Given the description of an element on the screen output the (x, y) to click on. 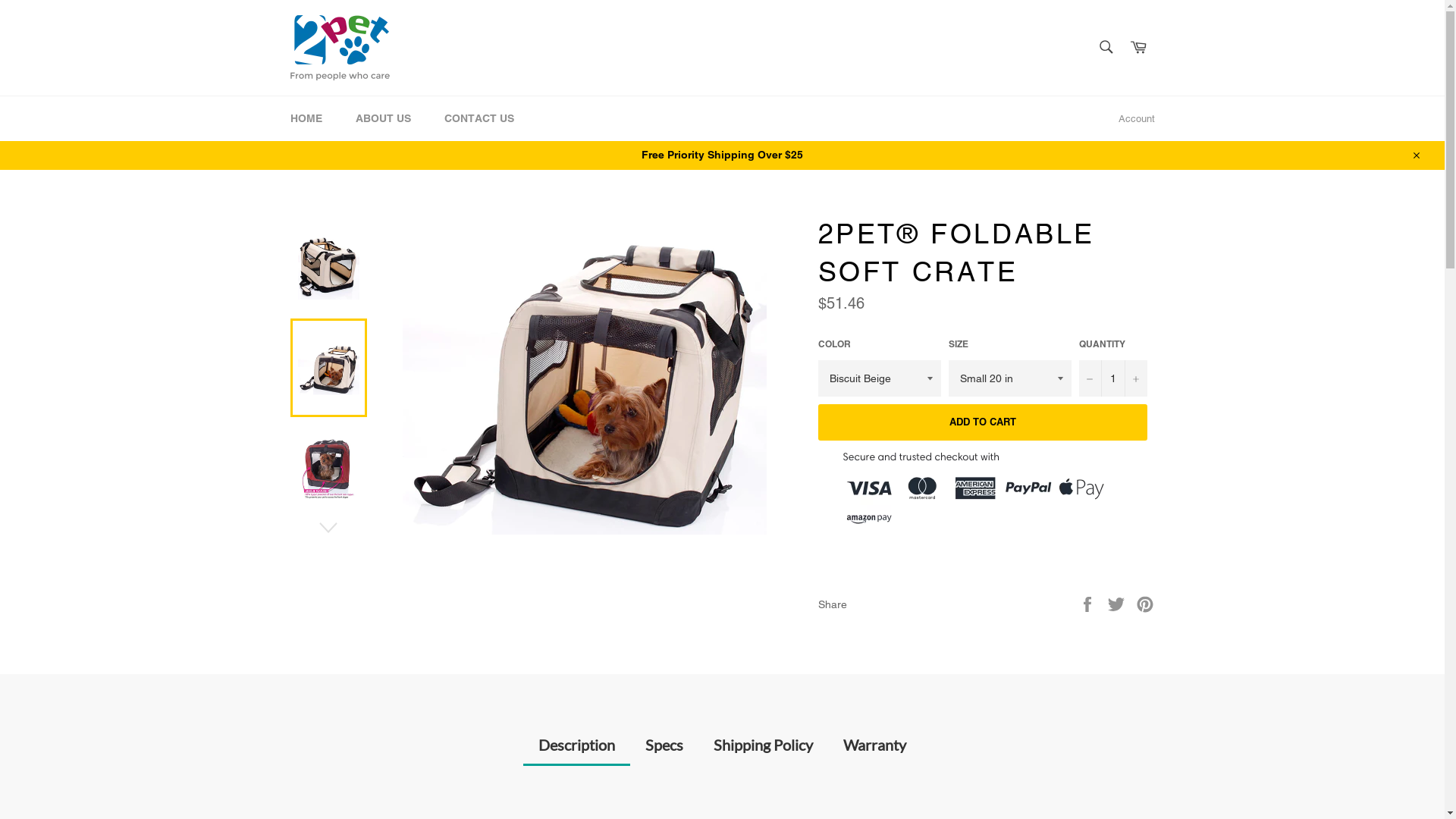
Search Element type: text (1105, 46)
Specs Element type: text (664, 759)
Description Element type: text (576, 746)
Cart Element type: text (1138, 47)
HOME Element type: text (305, 118)
+ Element type: text (1134, 378)
Shipping Policy Element type: text (763, 759)
CONTACT US Element type: text (479, 118)
Warranty Element type: text (874, 759)
Tweet on Twitter Element type: text (1117, 603)
Share on Facebook Element type: text (1088, 603)
Account Element type: text (1135, 119)
ABOUT US Element type: text (382, 118)
Pin on Pinterest Element type: text (1144, 603)
ADD TO CART Element type: text (981, 422)
Close Element type: text (1415, 154)
